Given the description of an element on the screen output the (x, y) to click on. 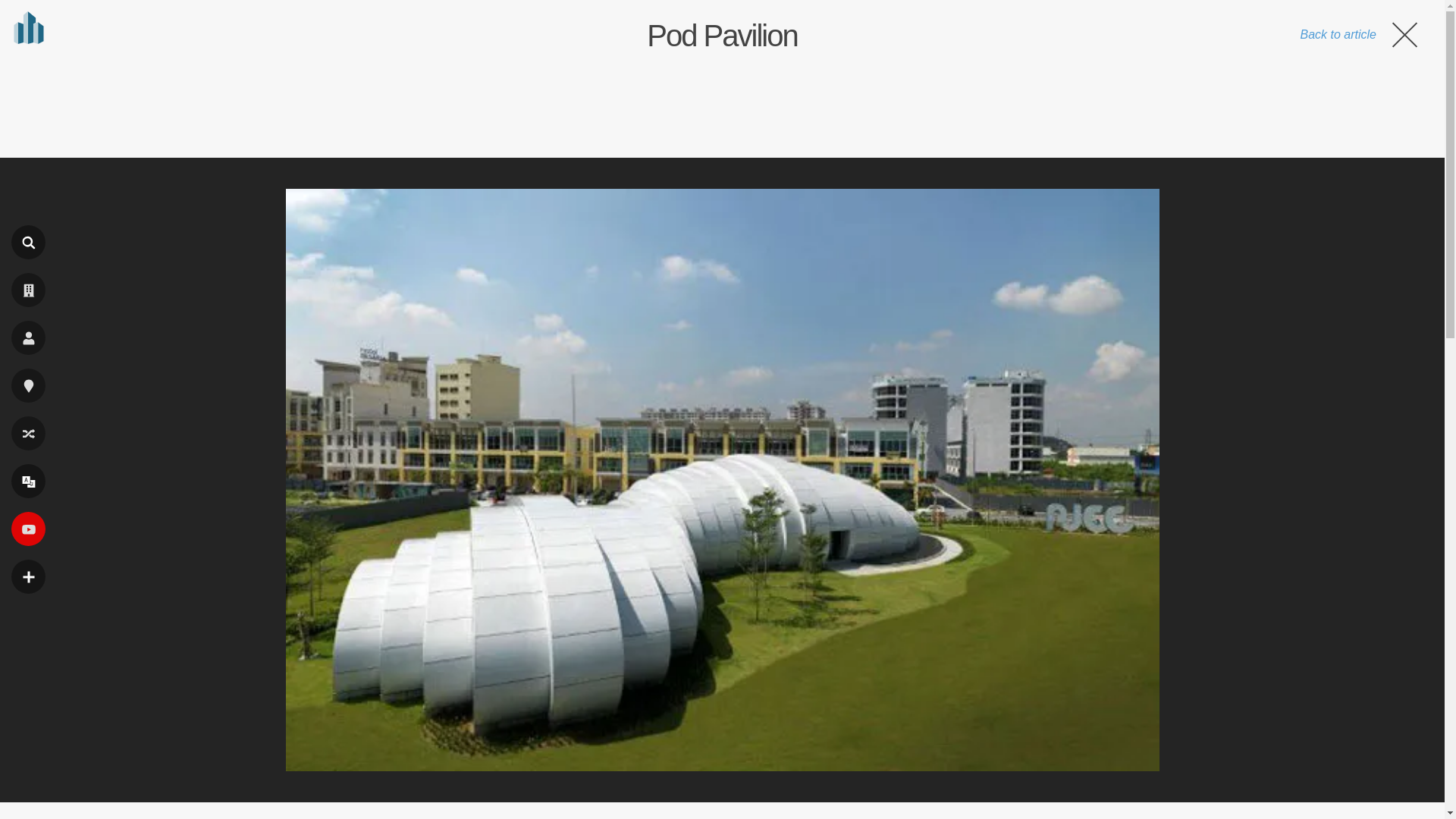
Advertisement (721, 105)
Pod Pavilion (721, 35)
Back to article (1361, 34)
